Given the description of an element on the screen output the (x, y) to click on. 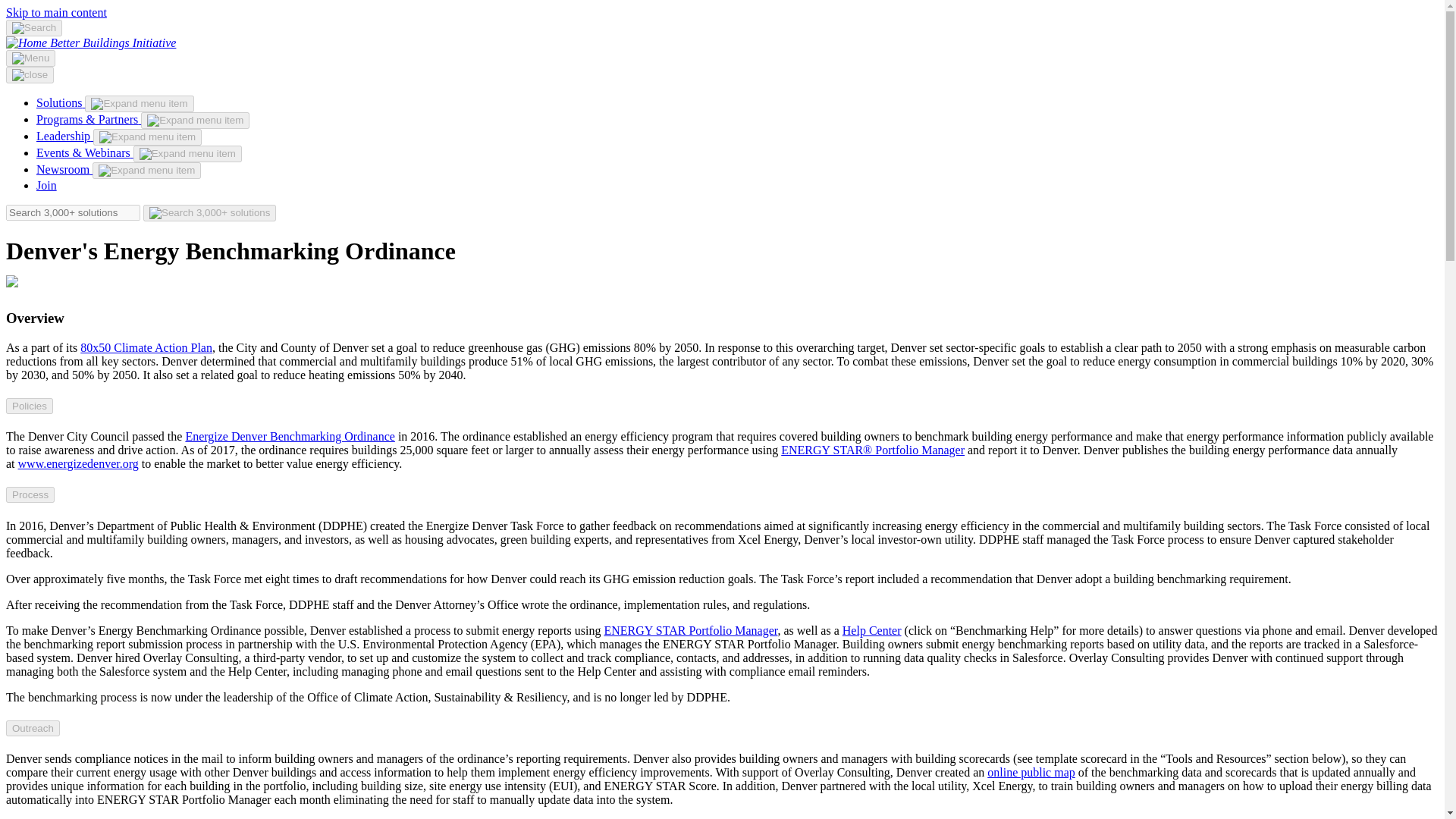
Newsroom (64, 169)
Outreach (32, 728)
Policies (28, 406)
Home (112, 42)
Solutions (60, 102)
Home (27, 42)
80x50 Climate Action Plan (146, 347)
Help Center (872, 630)
www.energizedenver.org (77, 463)
Join (46, 185)
